Given the description of an element on the screen output the (x, y) to click on. 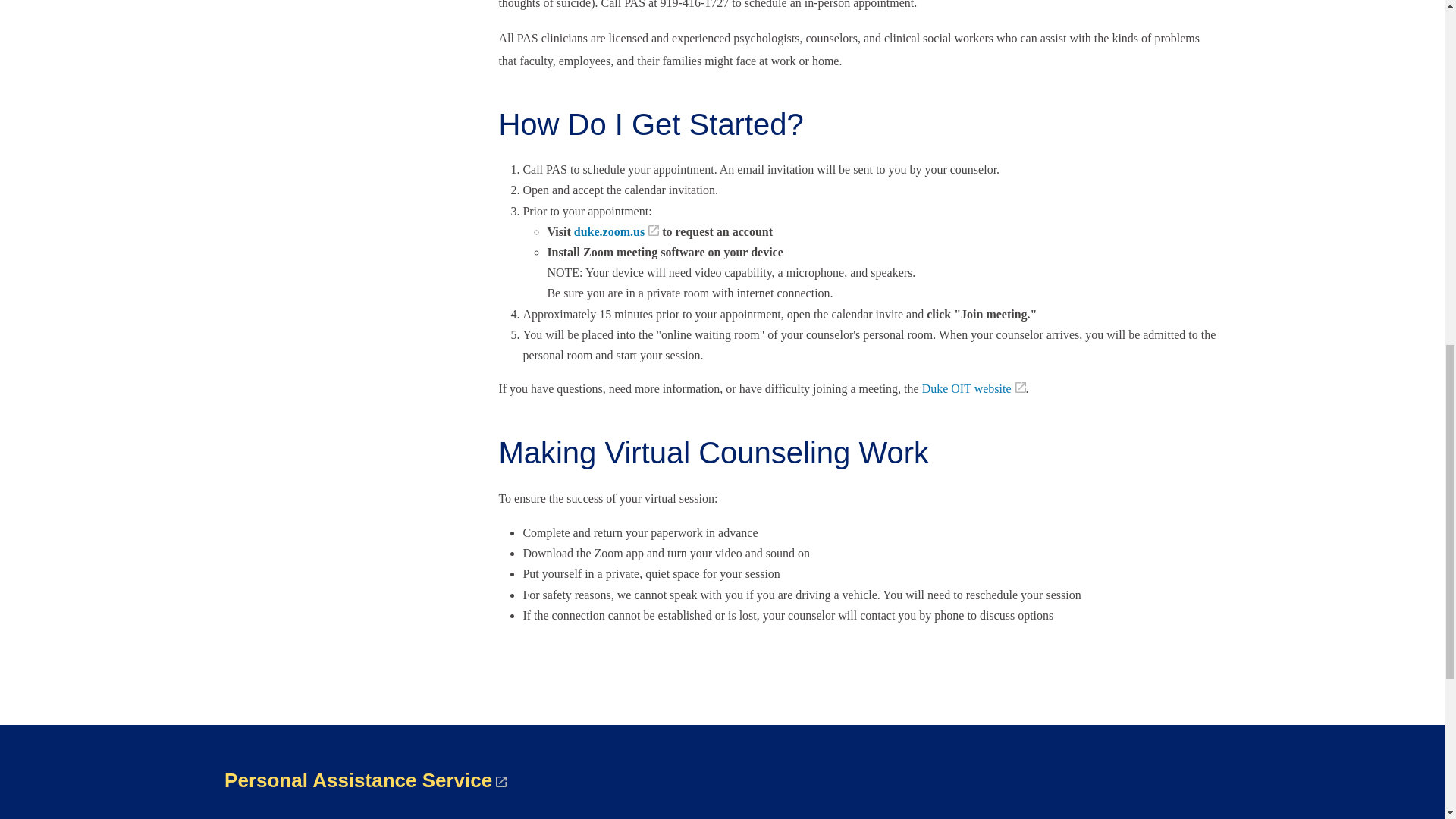
Duke OIT website (973, 388)
Personal Assistance Service (365, 780)
duke.zoom.us (616, 231)
